Given the description of an element on the screen output the (x, y) to click on. 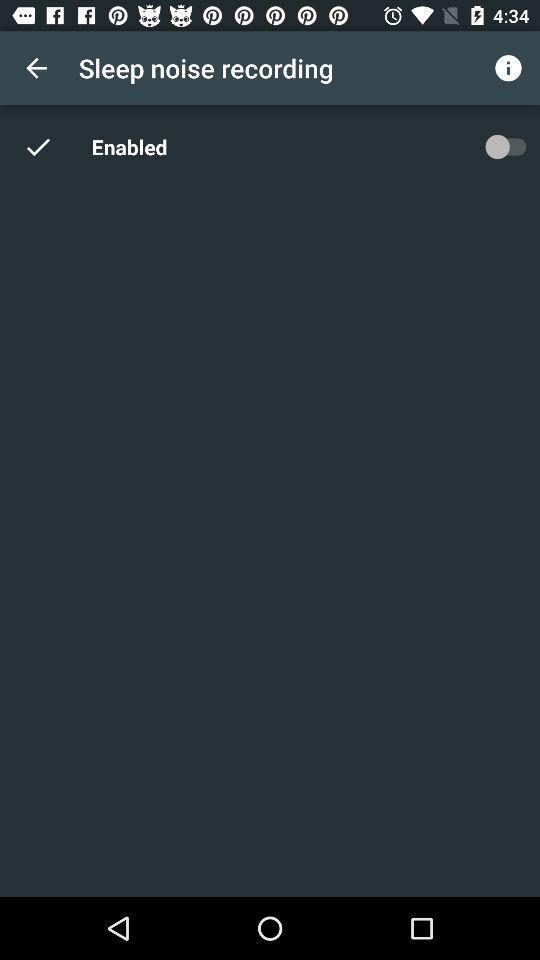
turn off app to the right of the sleep noise recording item (508, 67)
